Given the description of an element on the screen output the (x, y) to click on. 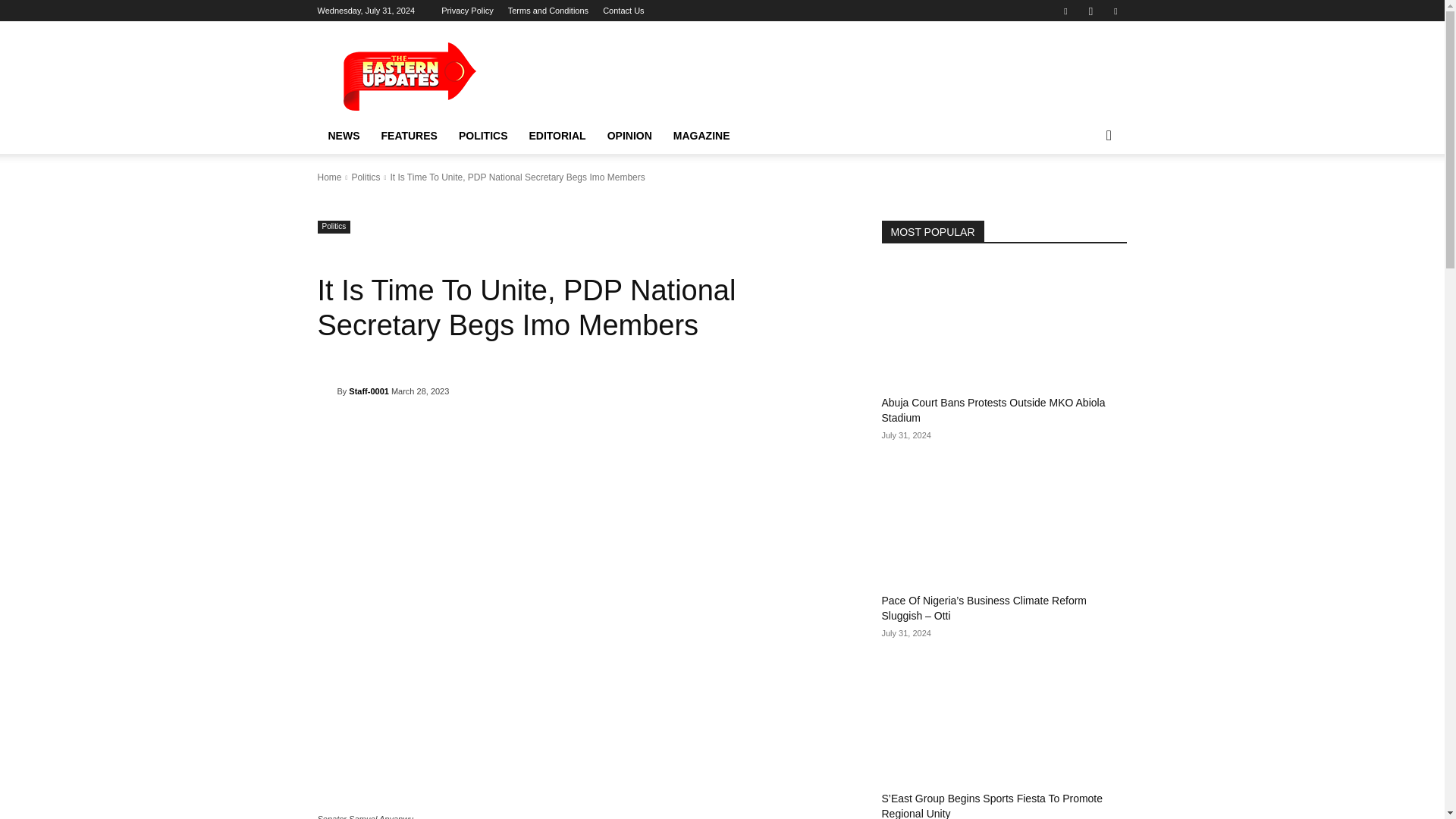
Facebook (1065, 10)
Privacy Policy (467, 10)
Contact Us (622, 10)
FEATURES (407, 135)
The Eastern Updates (445, 76)
NEWS (343, 135)
Twitter (1114, 10)
Instagram (1090, 10)
Terms and Conditions (548, 10)
